Given the description of an element on the screen output the (x, y) to click on. 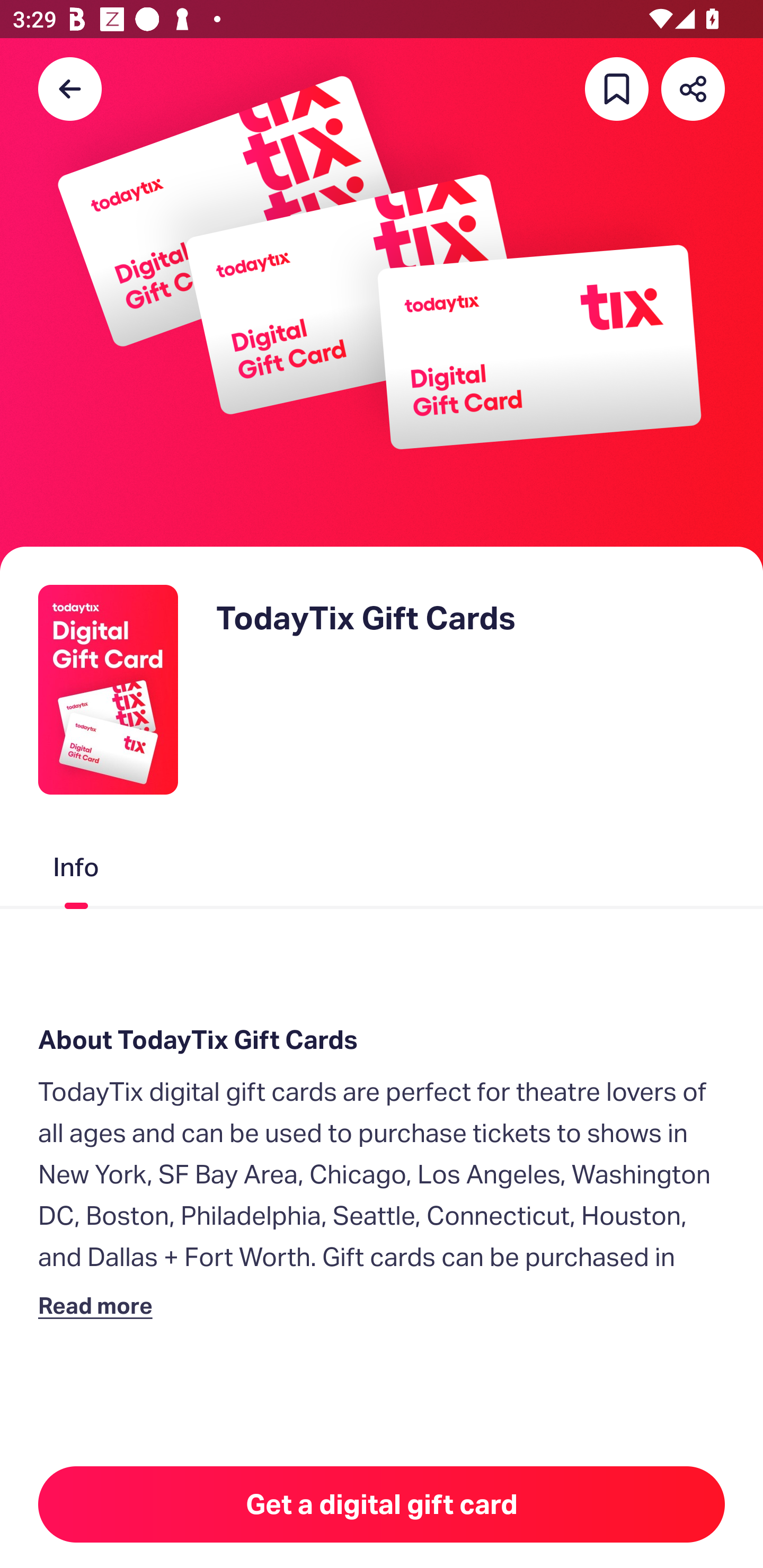
About TodayTix Gift Cards (381, 1039)
Read more (99, 1305)
Get a digital gift card (381, 1504)
